Given the description of an element on the screen output the (x, y) to click on. 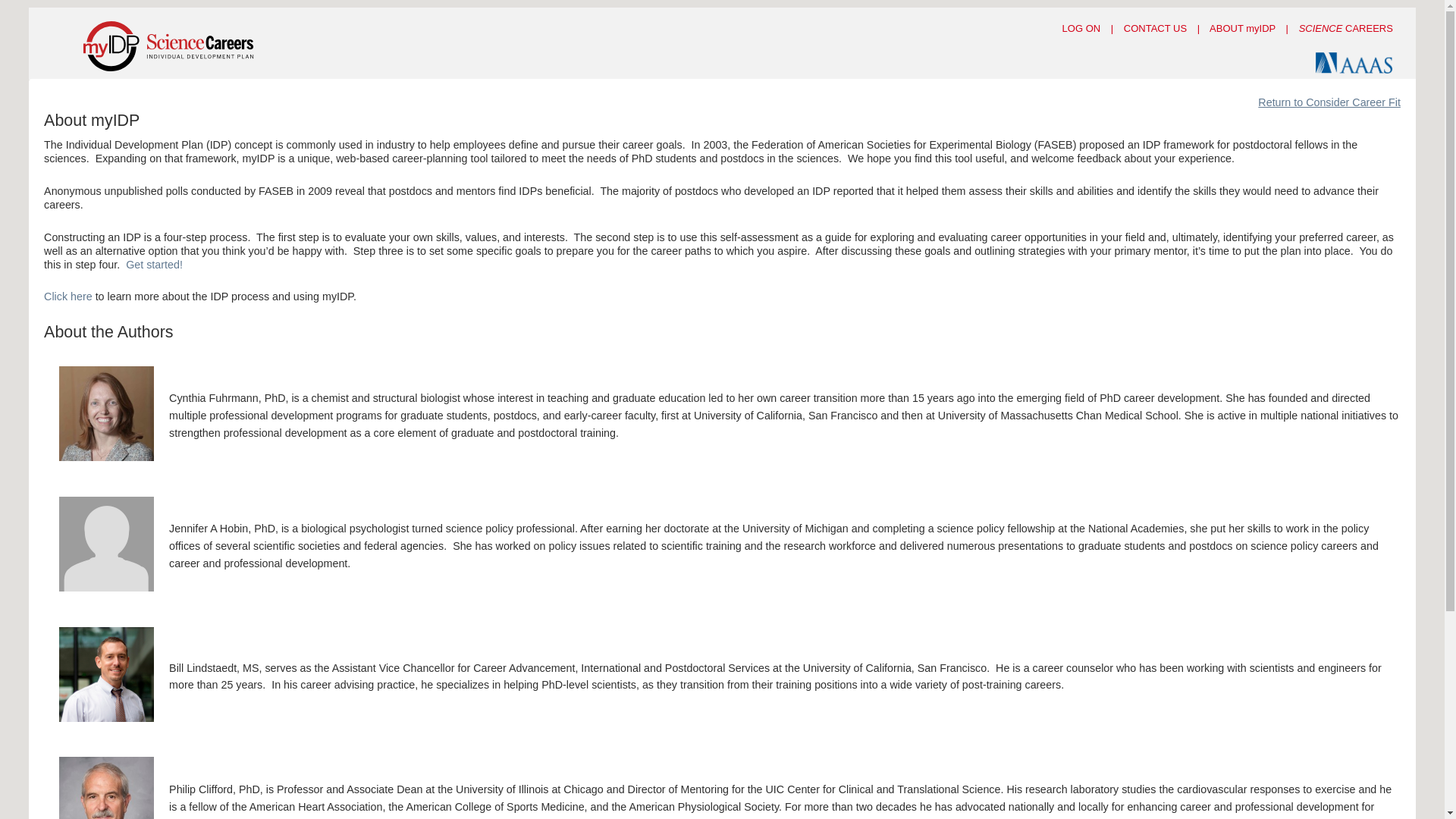
LOG ON (1081, 28)
Get started! (154, 264)
Click here (68, 296)
Return to Consider Career Fit (1328, 102)
ABOUT myIDP (1242, 28)
CONTACT US (1155, 28)
SCIENCE CAREERS (1345, 28)
